Given the description of an element on the screen output the (x, y) to click on. 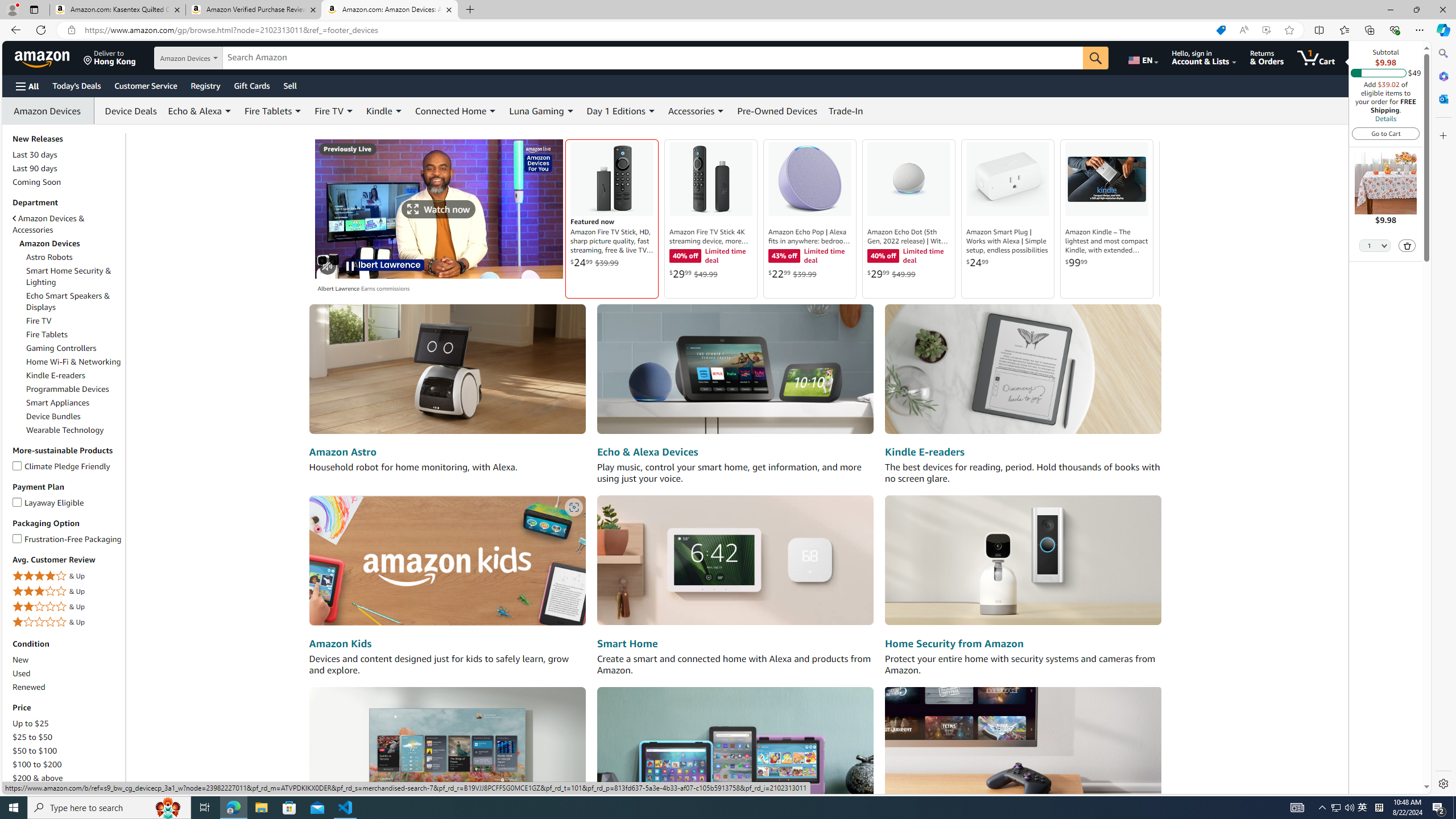
Wearable Technology (74, 429)
$100 to $200 (67, 763)
Coming Soon (67, 181)
Go (1096, 57)
Home Wi-Fi & Networking (74, 361)
4 Stars & Up& Up (67, 576)
Frustration-Free Packaging Frustration-Free Packaging (67, 538)
3 Stars & Up& Up (67, 591)
Amazon Devices & Accessories (67, 223)
Fire TV (74, 320)
Fire Tablets (74, 333)
Used (21, 673)
Layaway Eligible Layaway Eligible (48, 502)
Amazon Luna (1022, 751)
2 Stars & Up (67, 606)
